Given the description of an element on the screen output the (x, y) to click on. 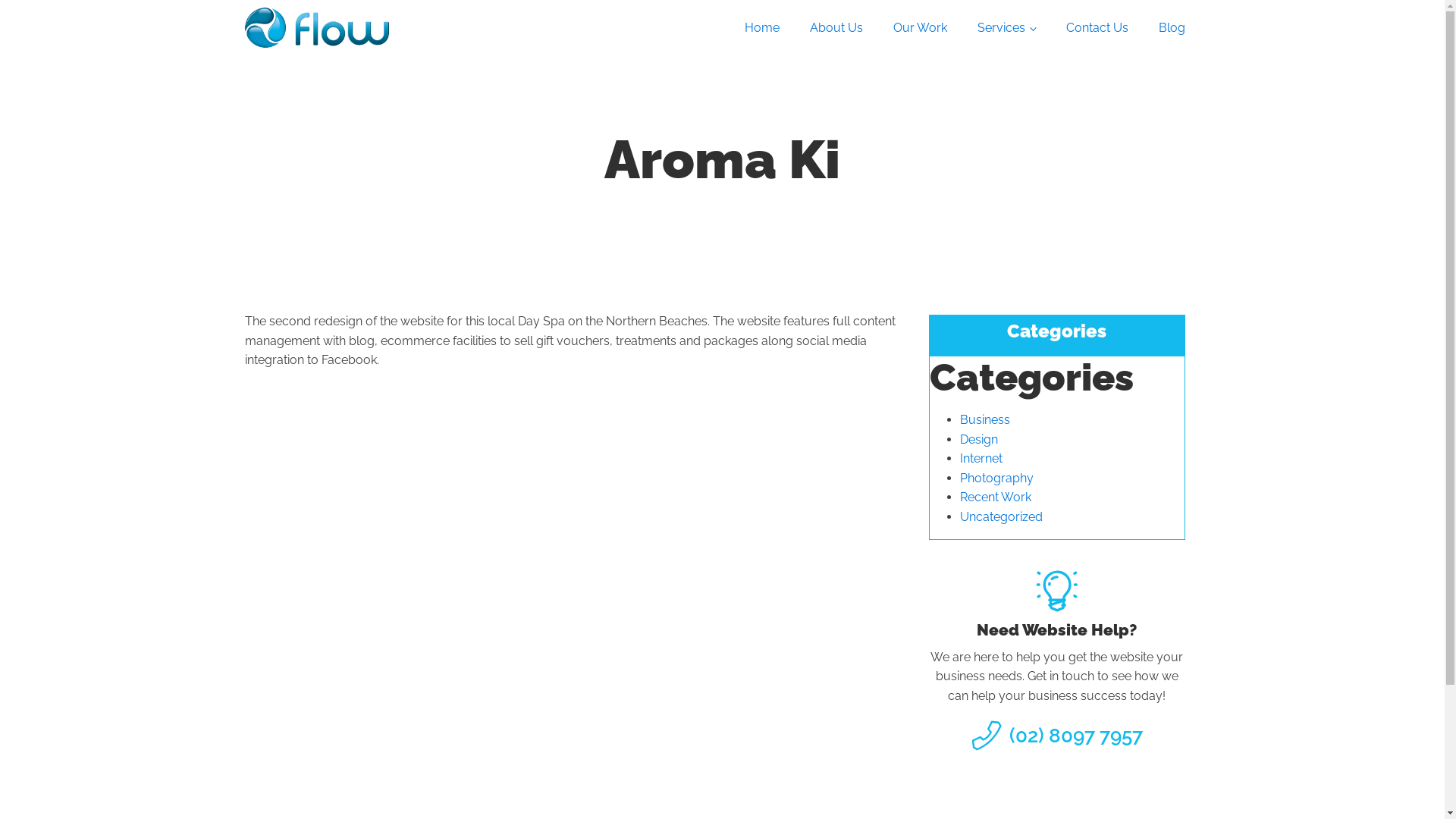
Recent Work Element type: text (995, 496)
Home Element type: text (761, 28)
Contact Us Element type: text (1097, 28)
Our Work Element type: text (920, 28)
Blog Element type: text (1171, 28)
Services Element type: text (1006, 28)
(02) 8097 7957 Element type: text (1075, 736)
Uncategorized Element type: text (1001, 516)
Internet Element type: text (981, 458)
Design Element type: text (978, 439)
About Us Element type: text (836, 28)
Photography Element type: text (996, 477)
Business Element type: text (985, 419)
